Given the description of an element on the screen output the (x, y) to click on. 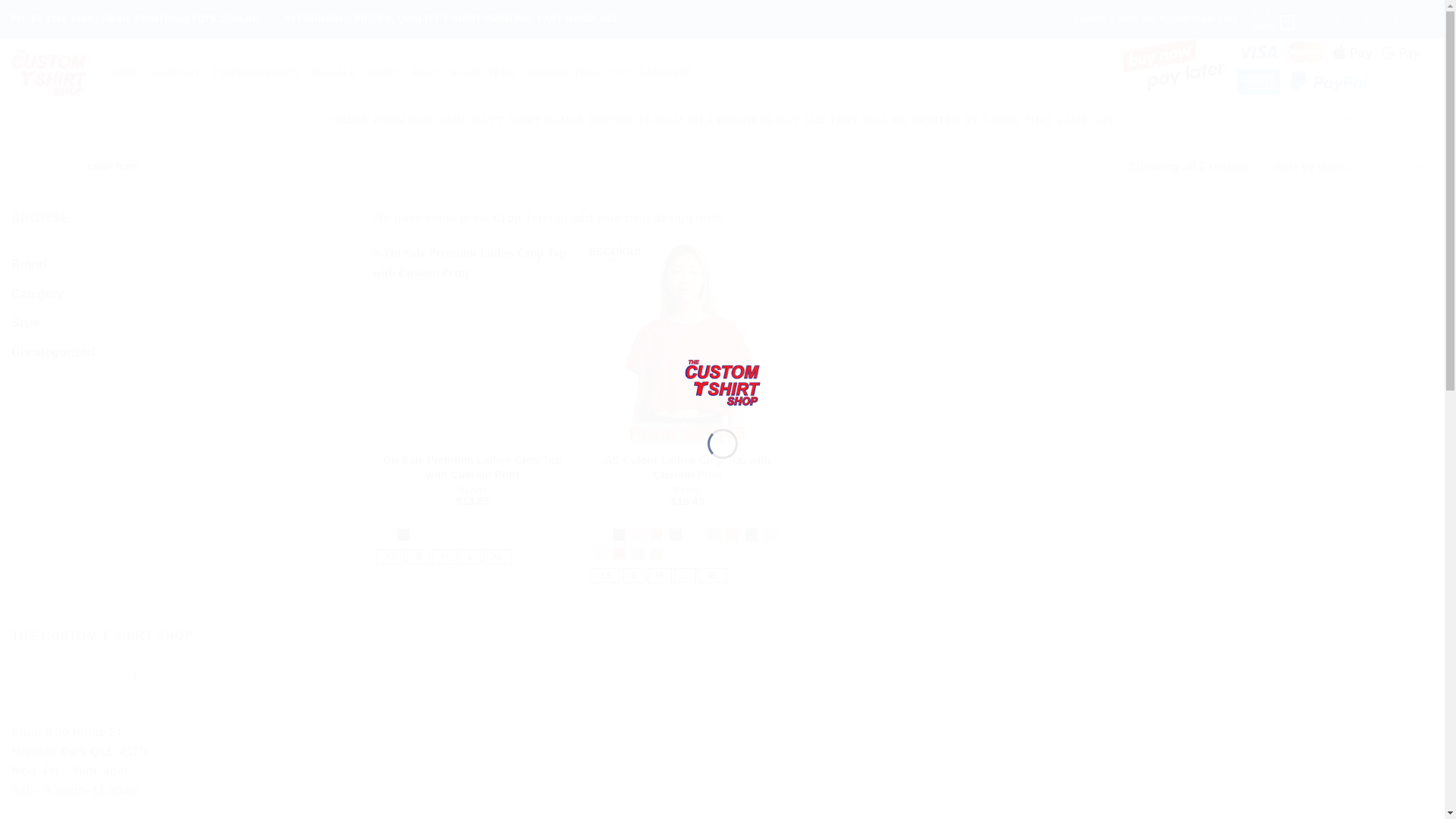
ABOUT (384, 72)
SAME DAY (174, 72)
DTF TRANSFERS (652, 72)
The Custom T Shirt Shop - T Shirt Printing Australia (722, 381)
Cart (1273, 19)
HOME (24, 166)
Login (1367, 119)
STYLE (62, 166)
The Custom T Shirt Shop - T Shirt Printing Australia (49, 72)
3 BUSINESS DAYS (256, 72)
